Given the description of an element on the screen output the (x, y) to click on. 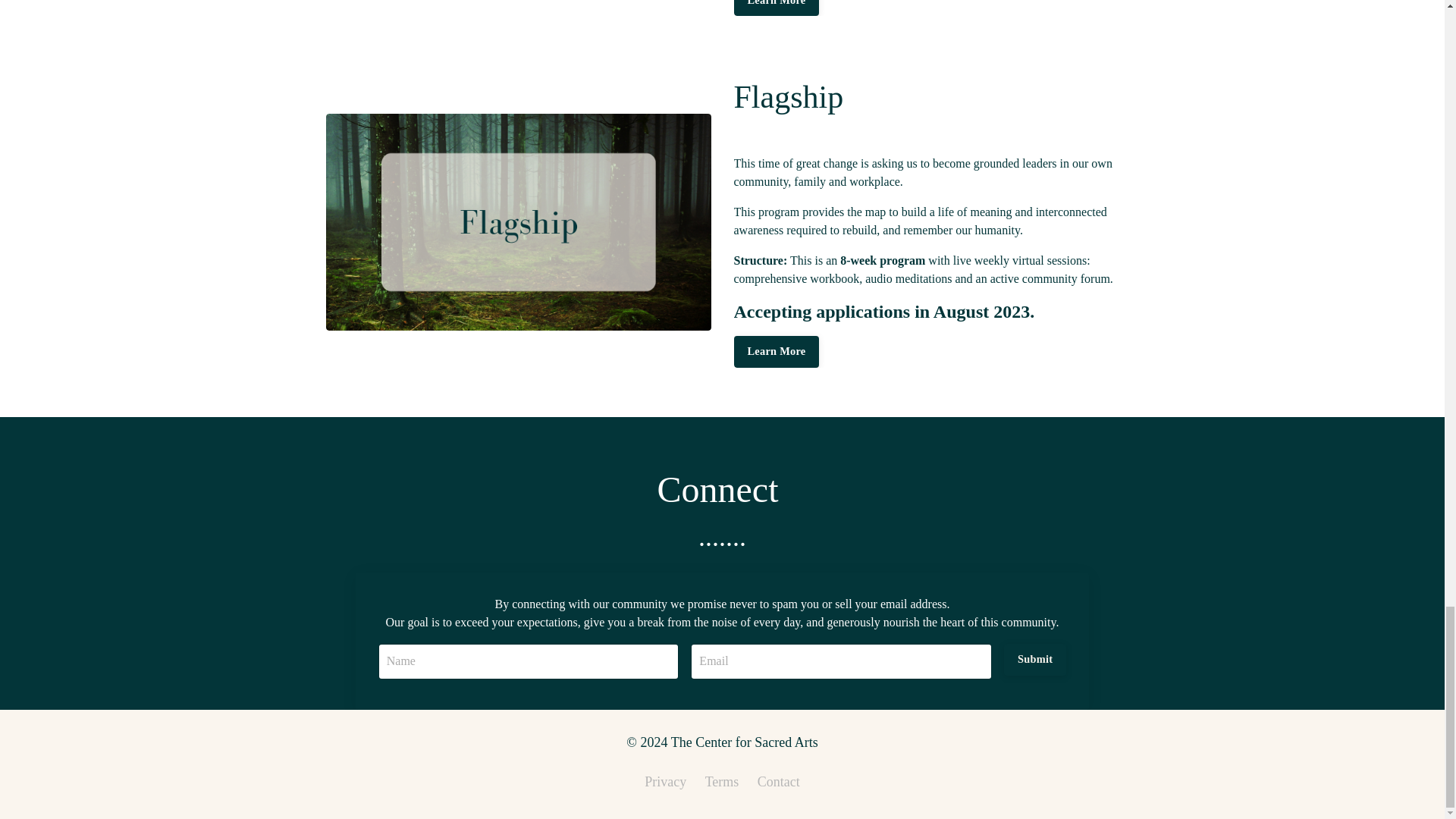
Privacy (665, 781)
Learn More (776, 351)
Submit (1034, 659)
Contact (778, 781)
Terms (721, 781)
Learn More (776, 8)
